Given the description of an element on the screen output the (x, y) to click on. 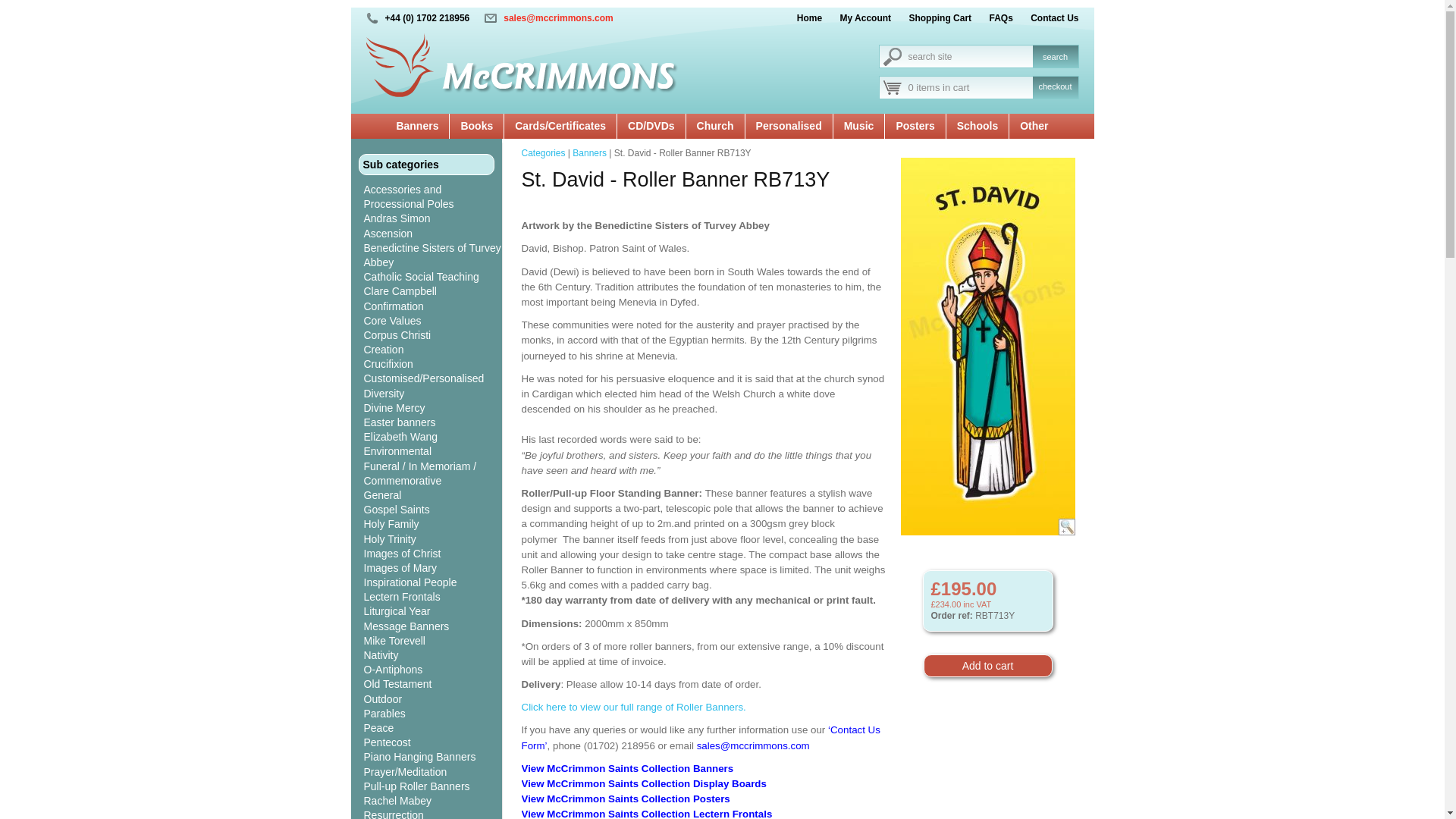
FAQs (992, 18)
Add to cart (987, 665)
Home (801, 18)
search (1055, 56)
Contact Us (1046, 18)
checkout (1055, 90)
My Account (858, 18)
search (1055, 56)
search site (954, 56)
Banners (416, 126)
Shopping Cart (932, 18)
